Given the description of an element on the screen output the (x, y) to click on. 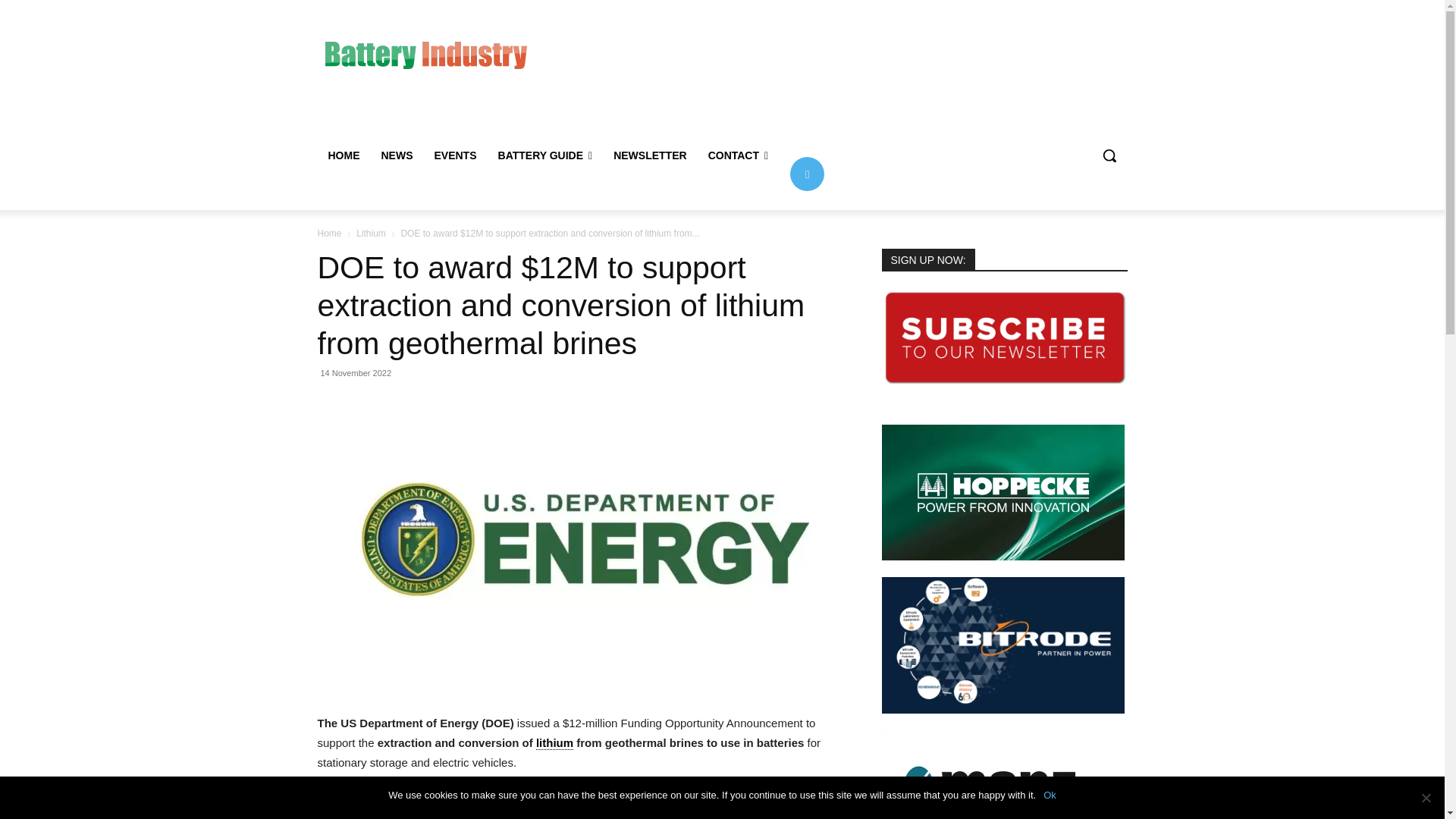
Linkedin (807, 173)
EVENTS (454, 155)
BATTERY GUIDE (545, 155)
Glossary: Lithium (333, 816)
NEWS (396, 155)
Glossary: Battery (675, 816)
HOME (343, 155)
Glossary: Lithium (745, 816)
View all posts in Lithium (370, 233)
Glossary: Lithium (554, 743)
